Given the description of an element on the screen output the (x, y) to click on. 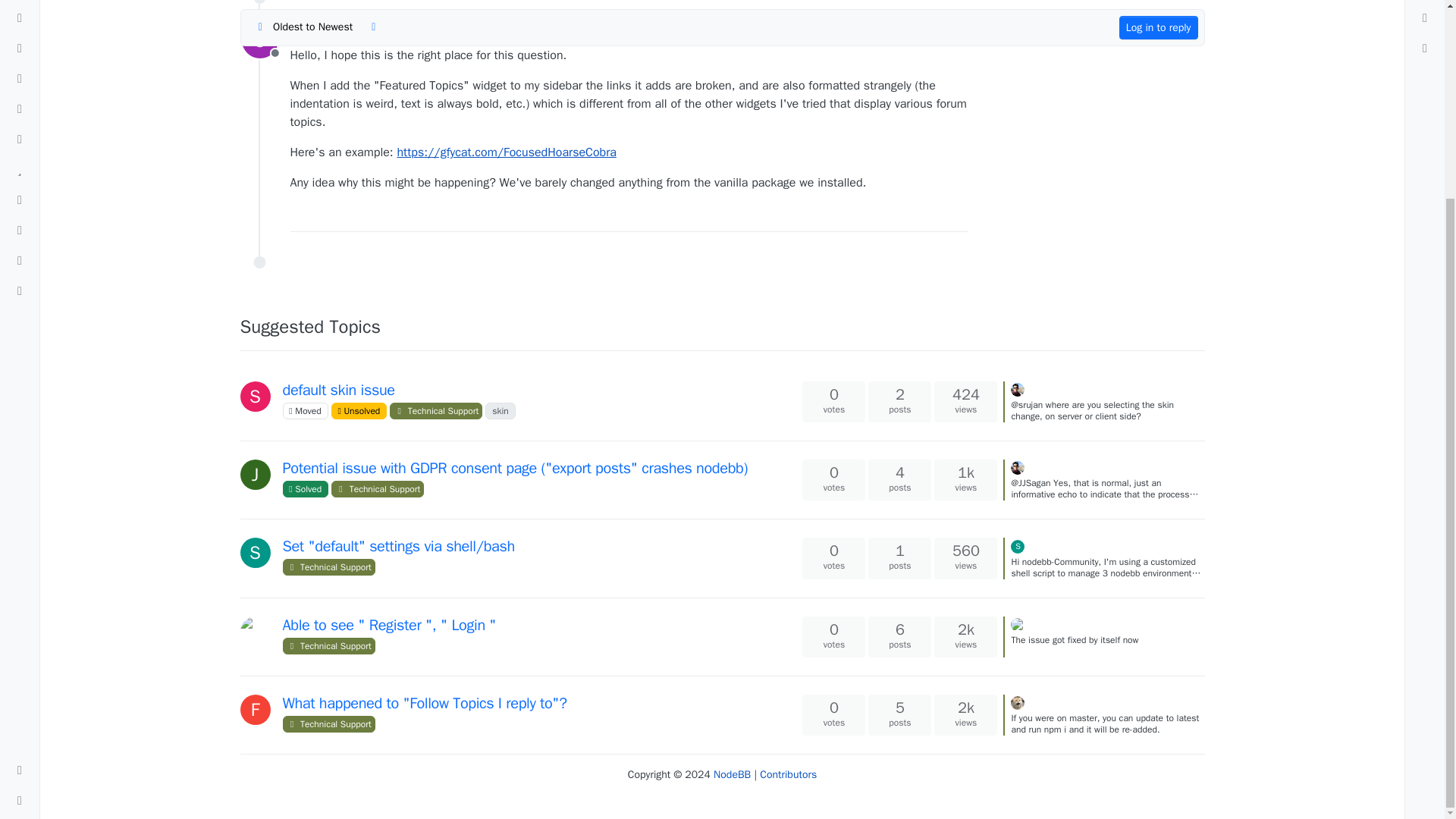
Choons (259, 40)
